Given the description of an element on the screen output the (x, y) to click on. 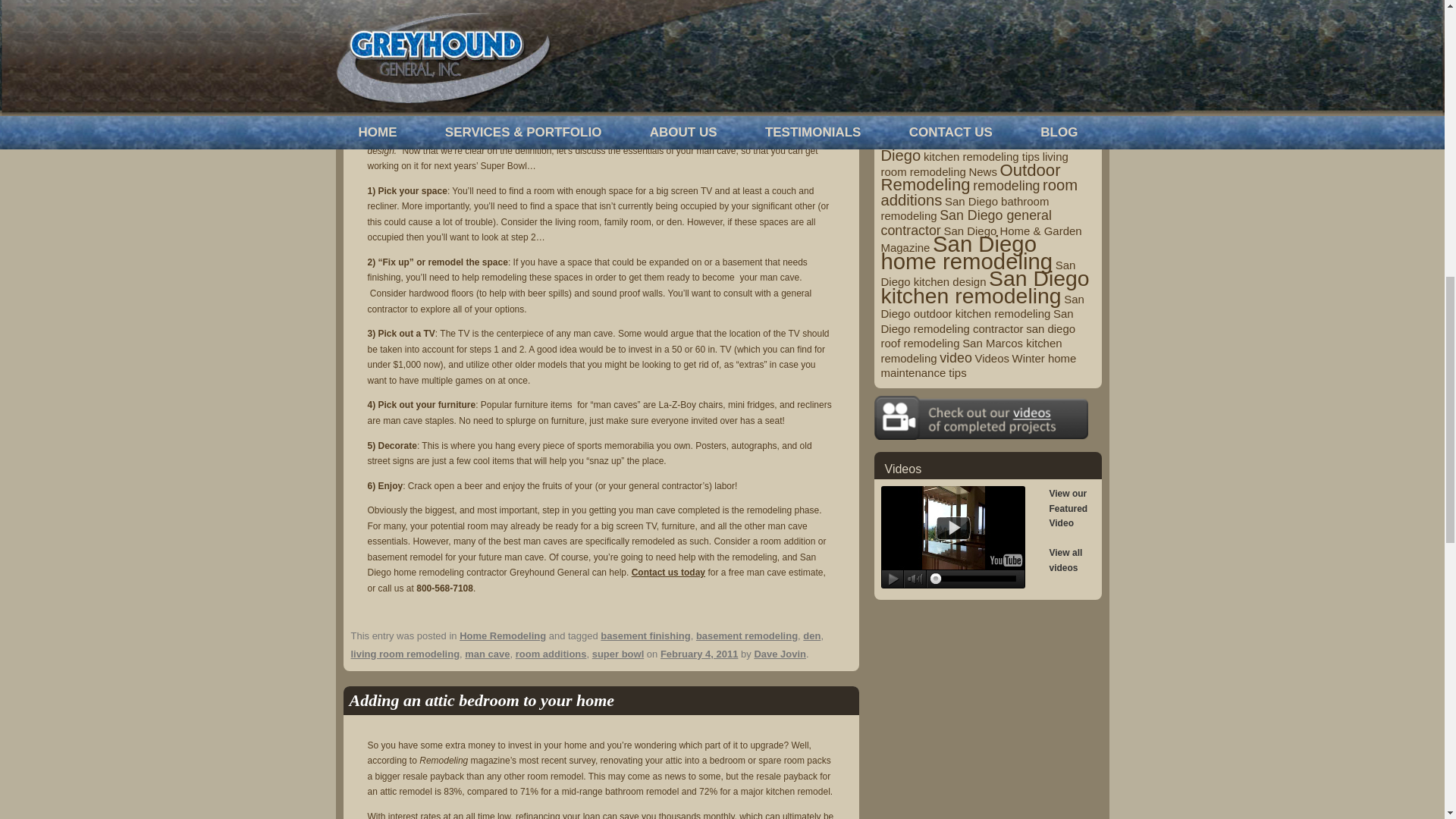
View all posts by Dave Jovin (780, 654)
9:51 pm (699, 654)
